Given the description of an element on the screen output the (x, y) to click on. 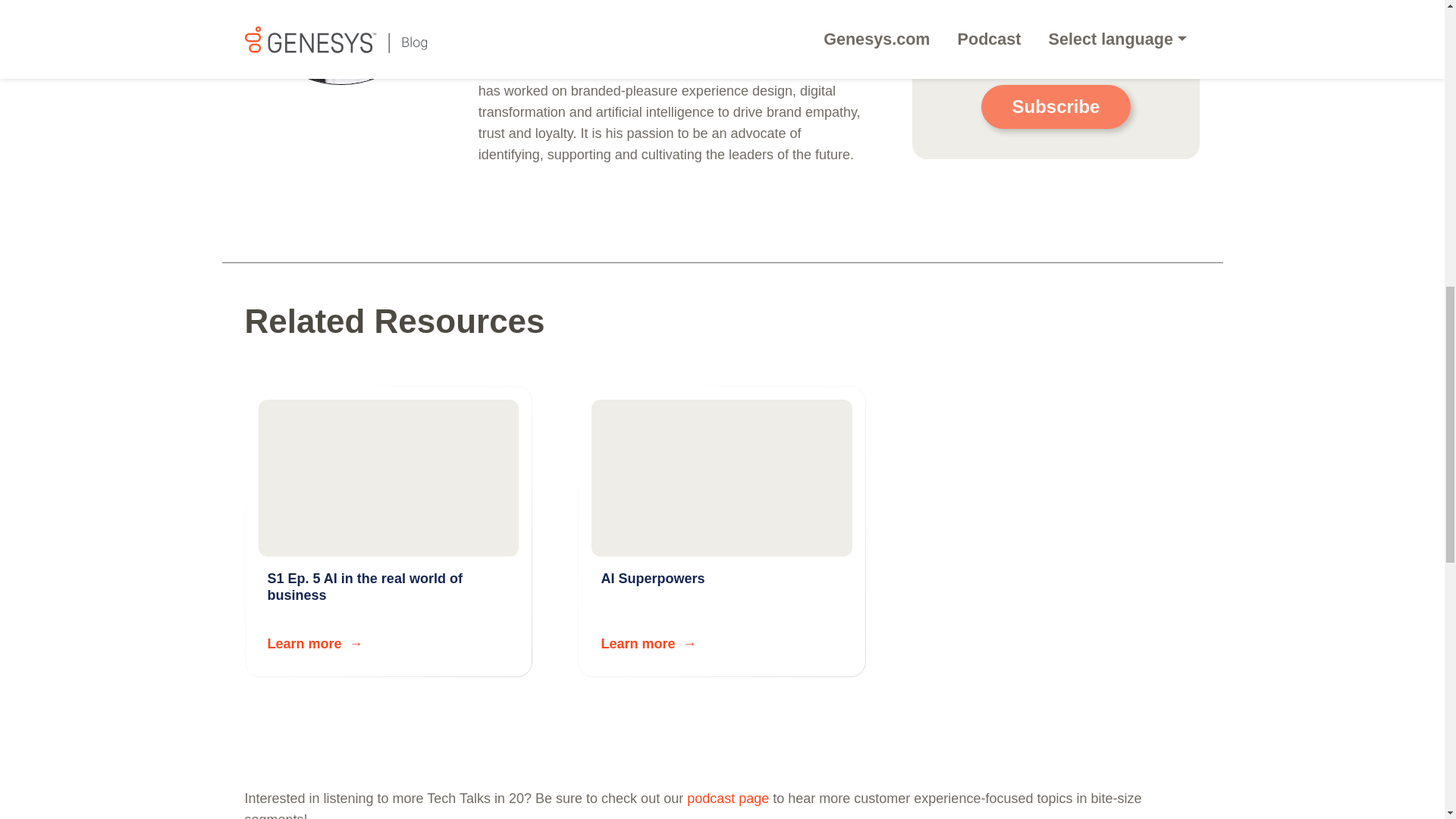
podcast page (727, 798)
Subscribe (1056, 106)
Subscribe (388, 531)
